Given the description of an element on the screen output the (x, y) to click on. 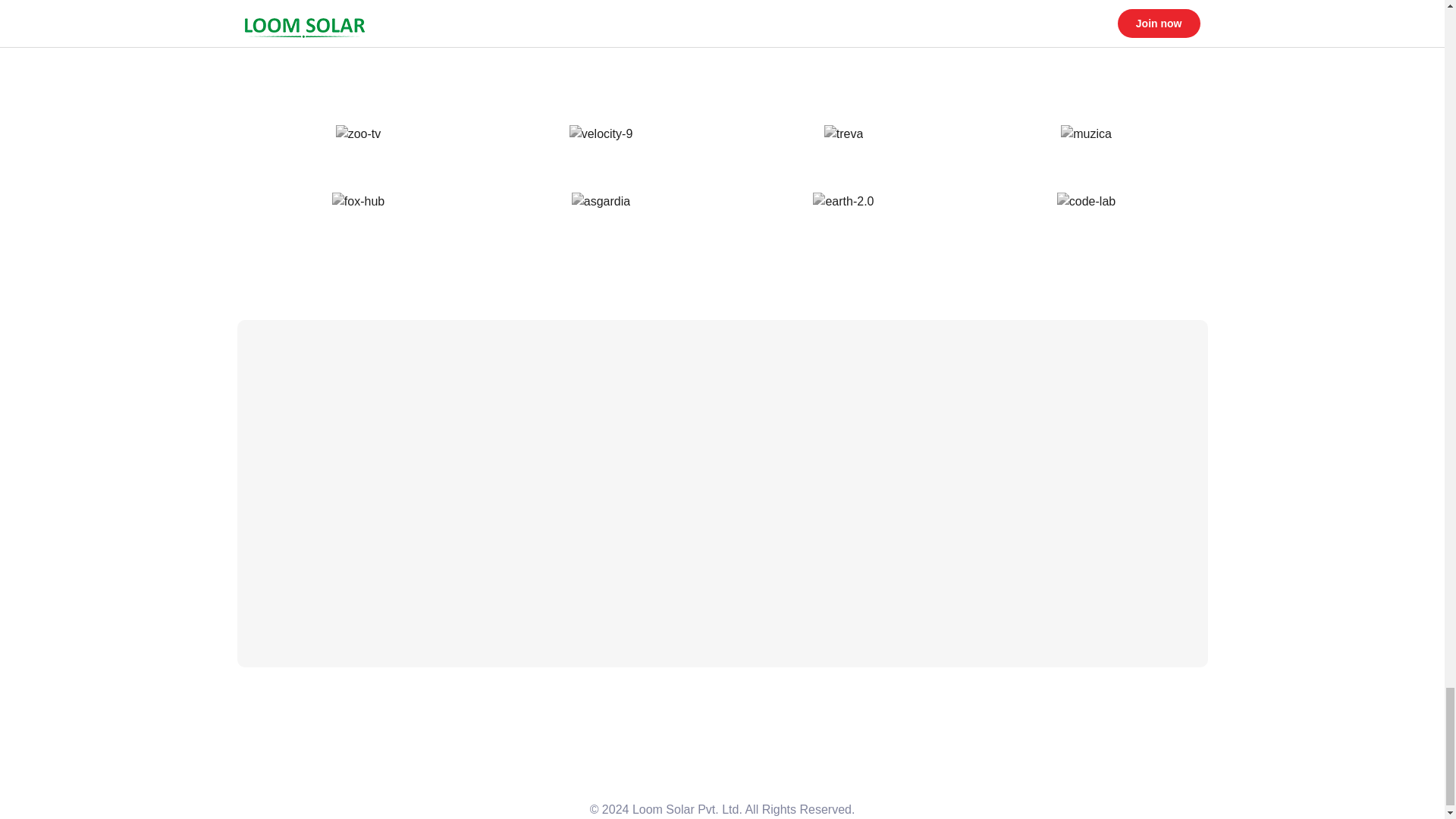
earth-2.0 (842, 201)
zoo-tv (358, 134)
code-lab (1086, 201)
fox-hub (357, 201)
velocity-9 (601, 134)
asgardia (601, 201)
treva (843, 134)
muzica (1086, 134)
